Given the description of an element on the screen output the (x, y) to click on. 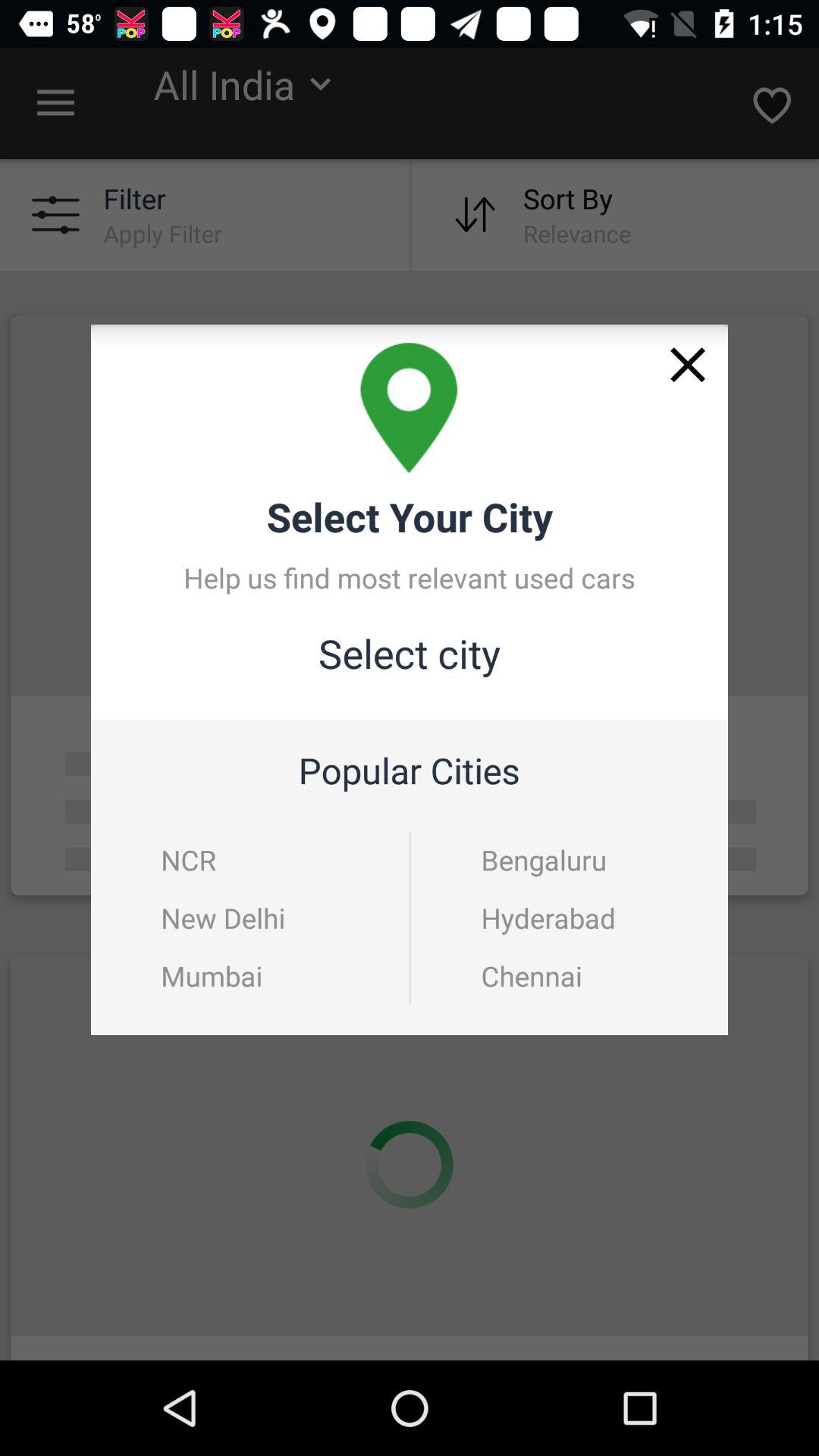
swipe to the chennai icon (569, 975)
